Given the description of an element on the screen output the (x, y) to click on. 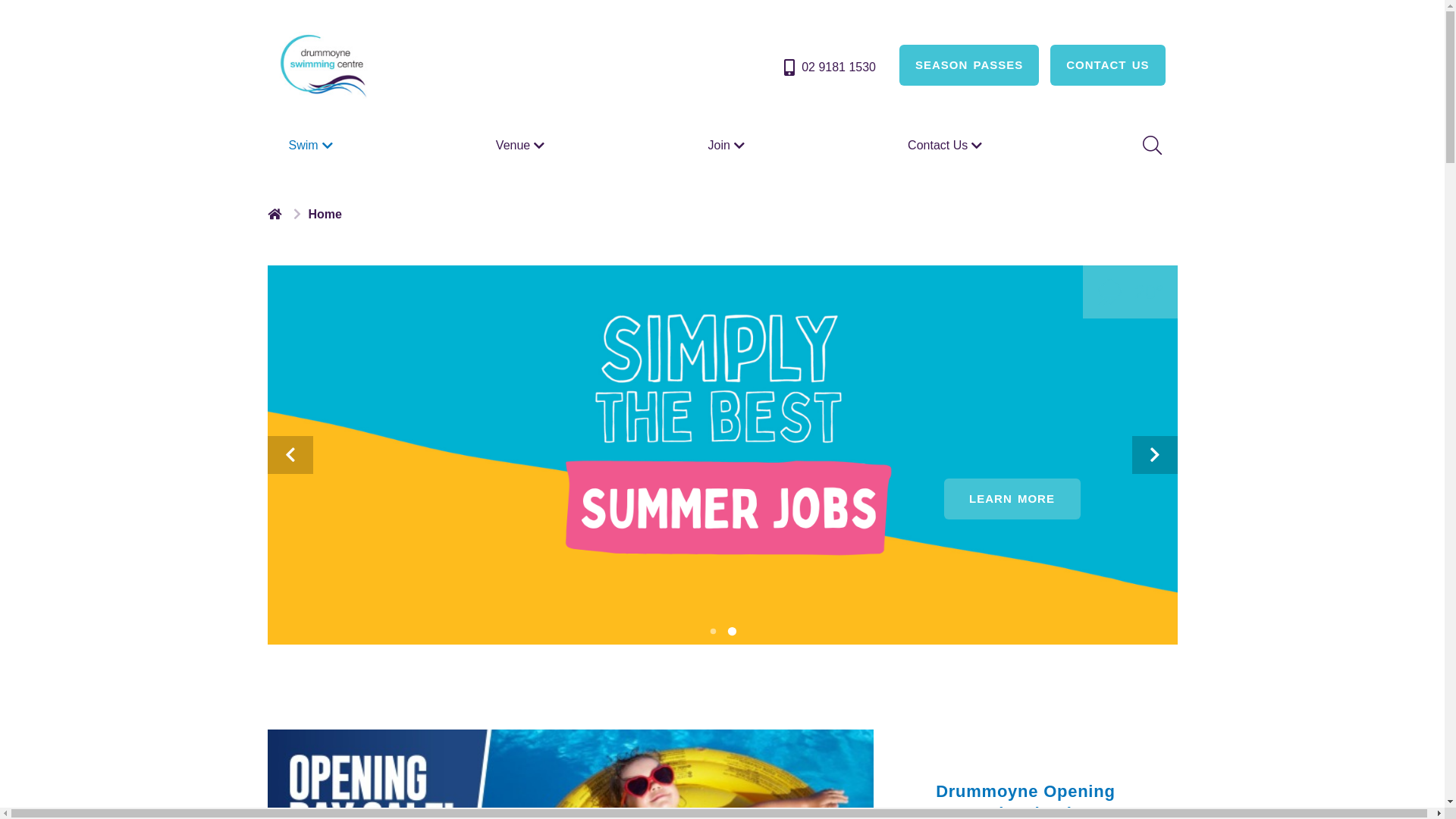
02 9181 1530 Element type: text (828, 67)
Next Element type: text (1153, 454)
Search Element type: text (1150, 145)
SEASON PASSES Element type: text (968, 64)
CONTACT US Element type: text (1107, 64)
Contact Us Element type: text (946, 145)
Join Element type: text (728, 145)
Venue Element type: text (521, 145)
LEARN MORE Element type: text (1011, 498)
Swim Element type: text (312, 145)
  Element type: text (275, 213)
Prev Element type: text (289, 454)
